Given the description of an element on the screen output the (x, y) to click on. 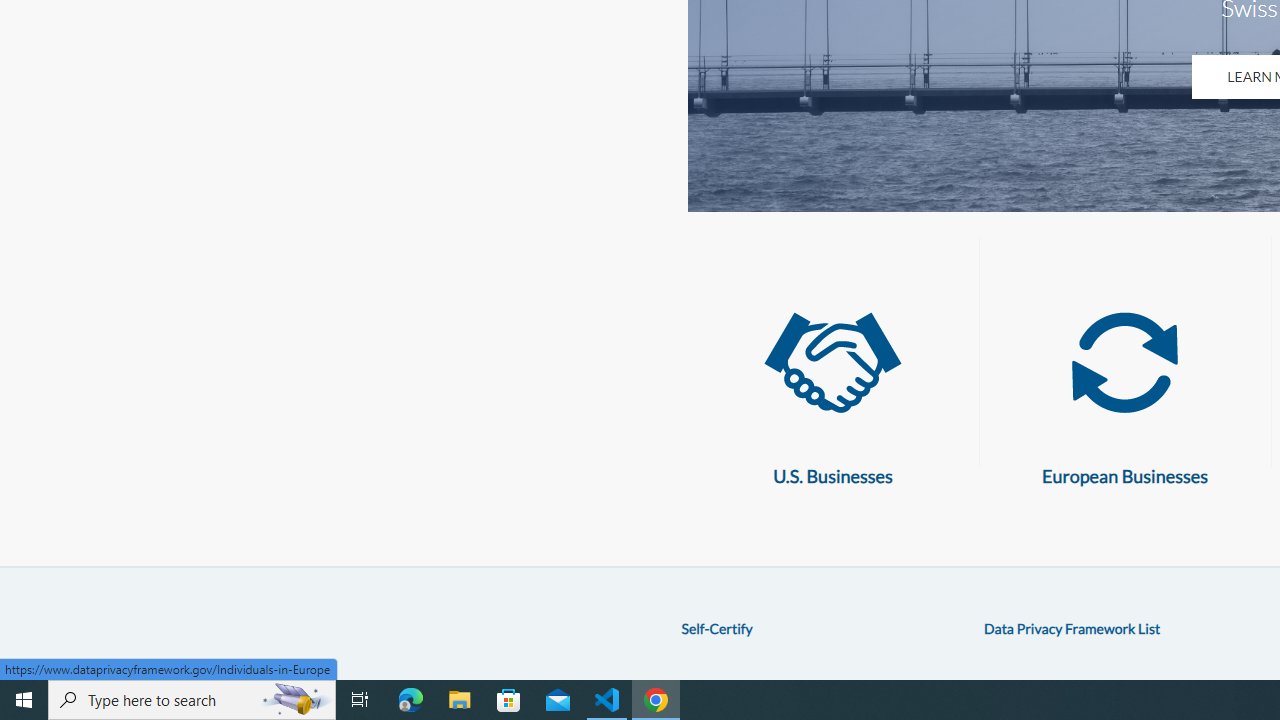
U.S. Businesses U.S. Businesses (832, 389)
Self-Certify (716, 628)
European Businesses European Businesses (1124, 389)
Data Privacy Framework List (1072, 628)
U.S. Businesses (832, 363)
European Businesses (1124, 363)
